Given the description of an element on the screen output the (x, y) to click on. 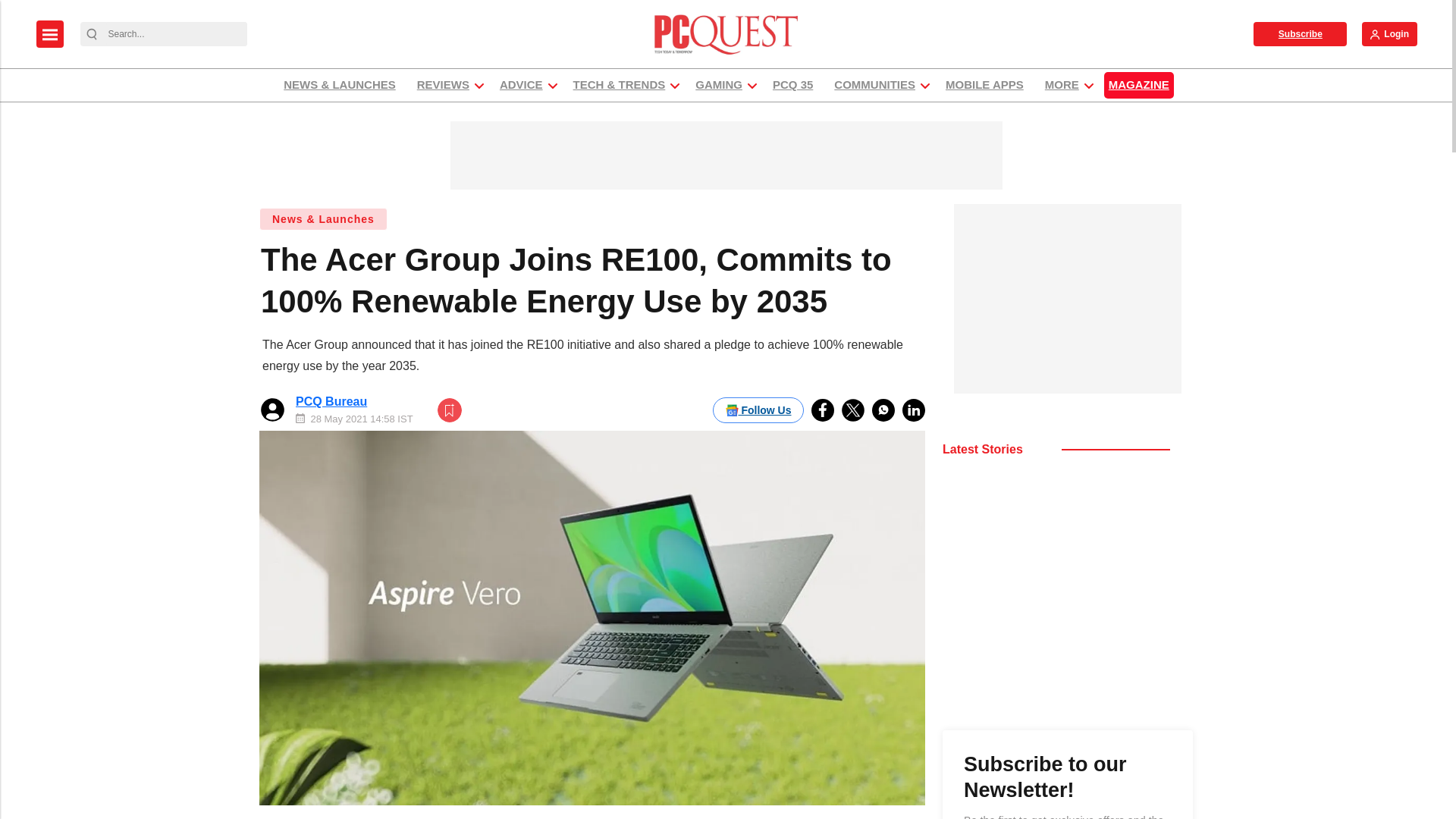
REVIEWS (443, 84)
PCQ 35 (792, 84)
GAMING (719, 84)
Subscribe (1299, 33)
MORE (1061, 84)
MOBILE APPS (984, 84)
ADVICE (521, 84)
MAGAZINE (1138, 85)
Login (1388, 33)
COMMUNITIES (874, 84)
